Given the description of an element on the screen output the (x, y) to click on. 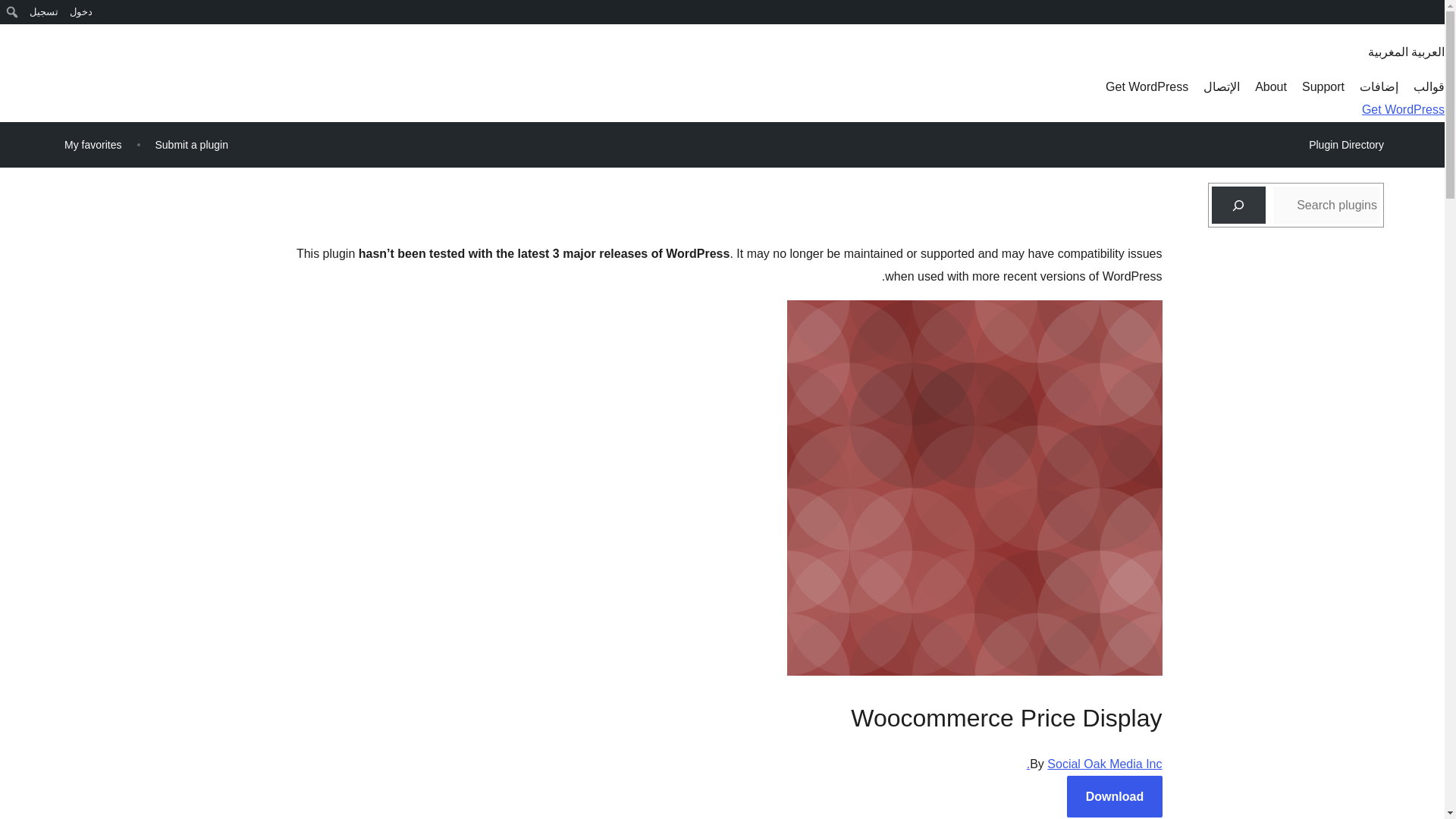
My favorites (93, 144)
Get WordPress (1146, 87)
About (1271, 87)
Download (1114, 796)
Submit a plugin (191, 144)
Social Oak Media Inc. (1093, 763)
Support (1322, 87)
Plugin Directory (1345, 144)
